Given the description of an element on the screen output the (x, y) to click on. 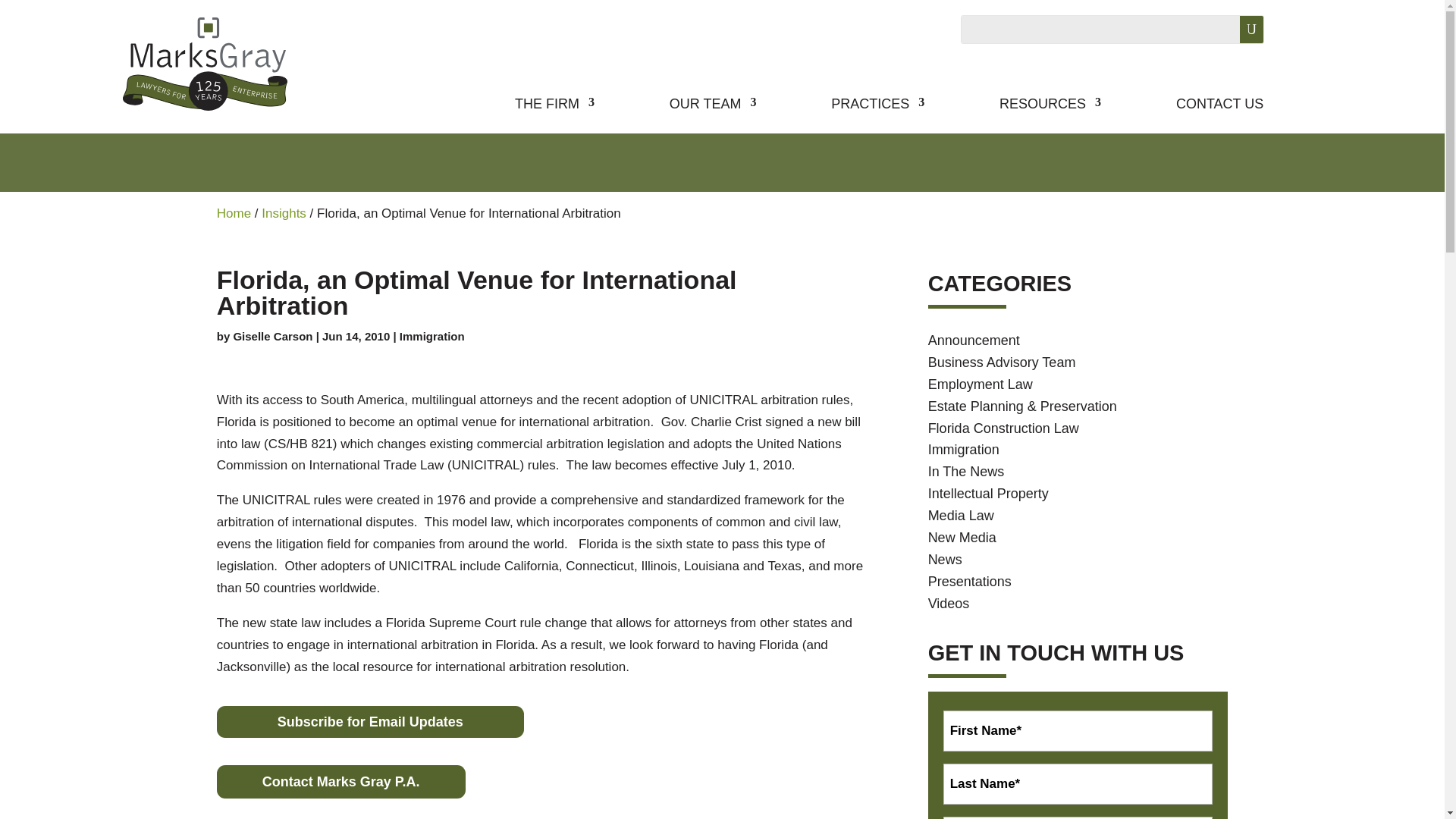
Posts by Giselle Carson (272, 336)
Search (1238, 29)
Search (1238, 29)
